Given the description of an element on the screen output the (x, y) to click on. 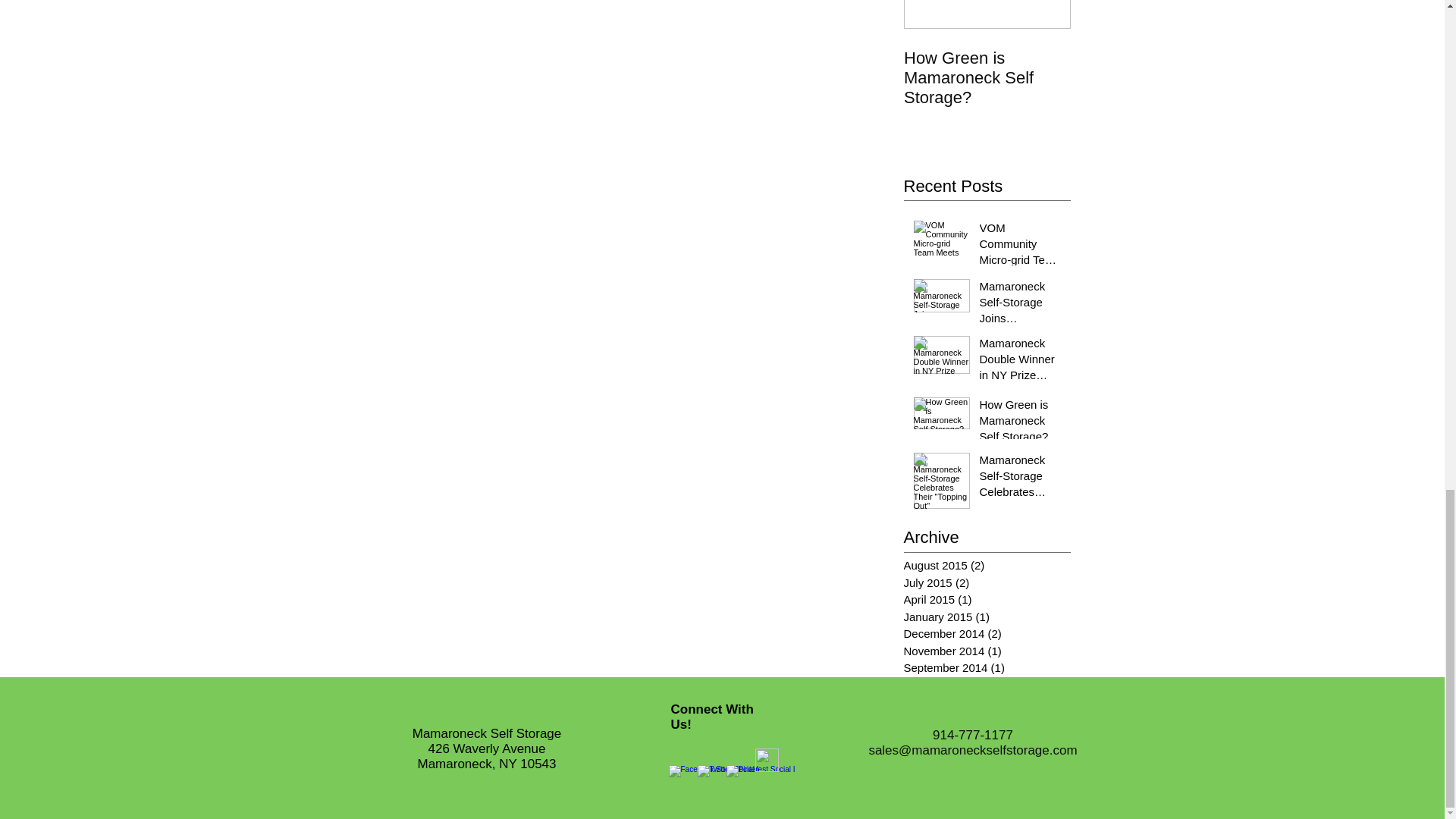
Mamaroneck Self-Storage Celebrates Their "Topping Out" (1020, 479)
How Green is Mamaroneck Self Storage? (987, 74)
Mamaroneck Double Winner in NY Prize Micro-Grid Contest (1020, 361)
How Green is Mamaroneck Self Storage? (987, 74)
How Green is Mamaroneck Self Storage? (987, 77)
How Green is Mamaroneck Self Storage? (1020, 423)
